Given the description of an element on the screen output the (x, y) to click on. 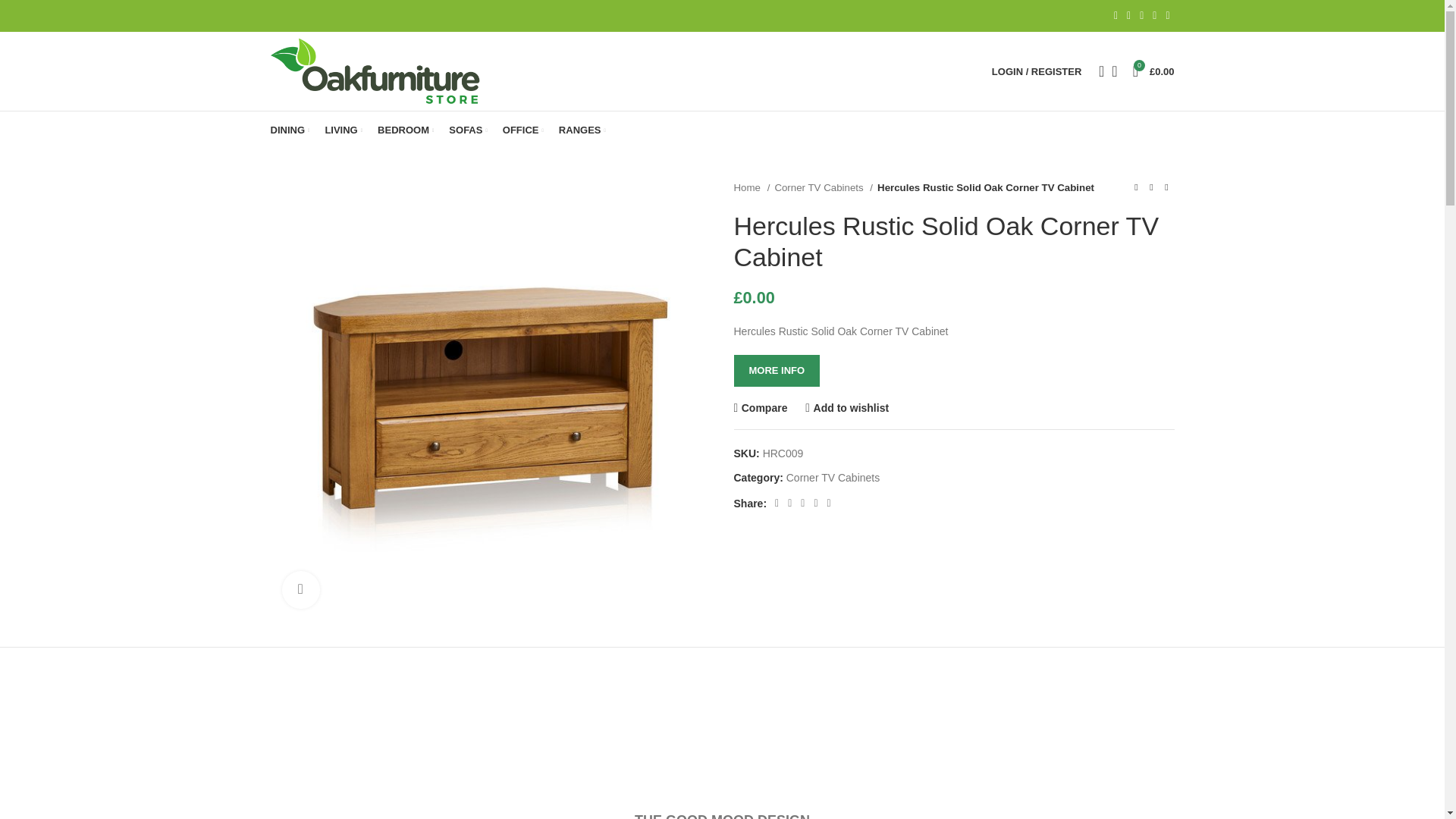
Dining Room Furniture (288, 130)
Log in (956, 312)
My account (1036, 71)
DINING (288, 130)
Shopping cart (1153, 71)
